Given the description of an element on the screen output the (x, y) to click on. 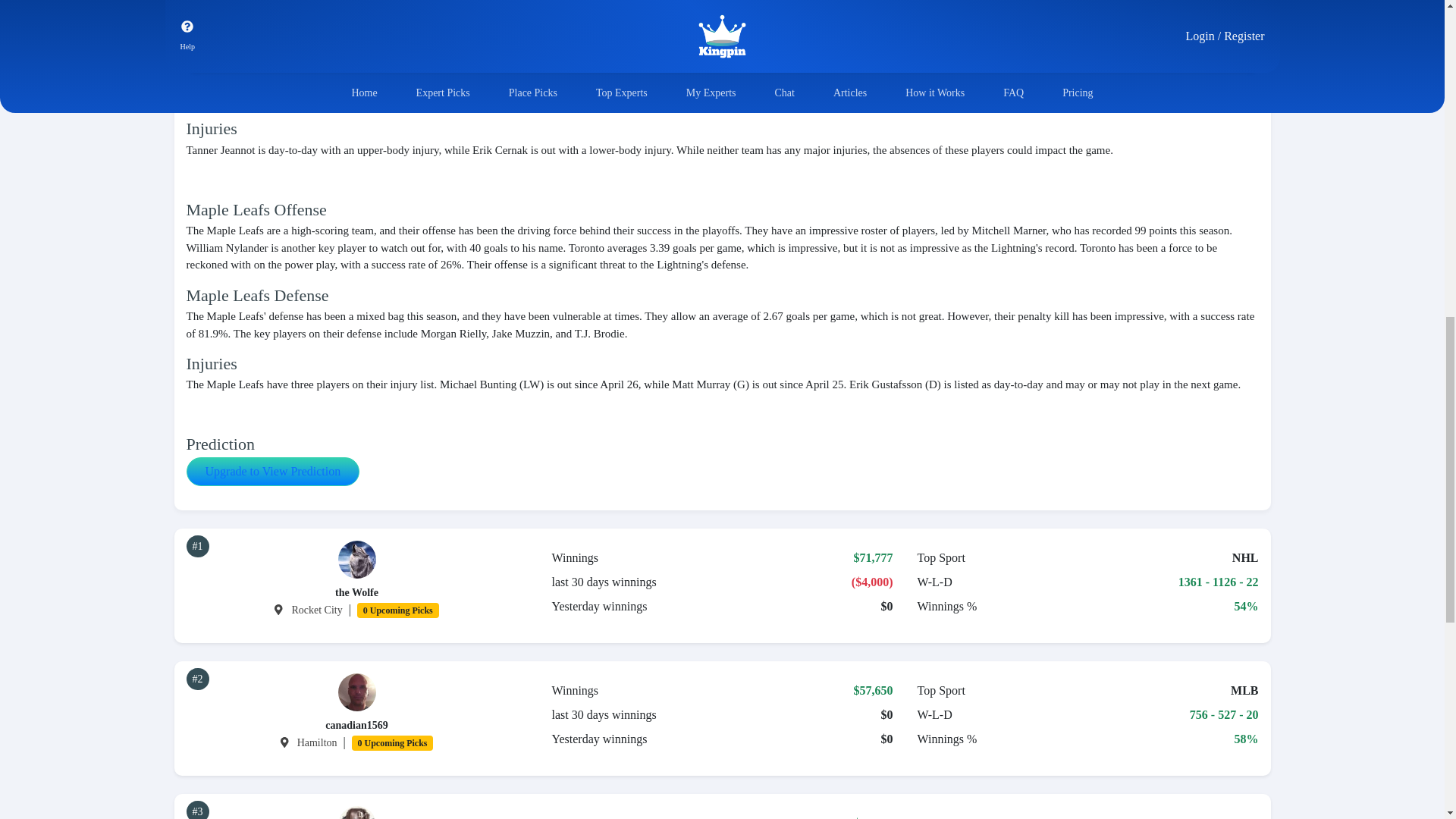
0 Upcoming Picks (397, 608)
canadian1569 (355, 725)
the Wolfe (356, 592)
0 Upcoming Picks (392, 741)
Upgrade to View Prediction (272, 471)
